Given the description of an element on the screen output the (x, y) to click on. 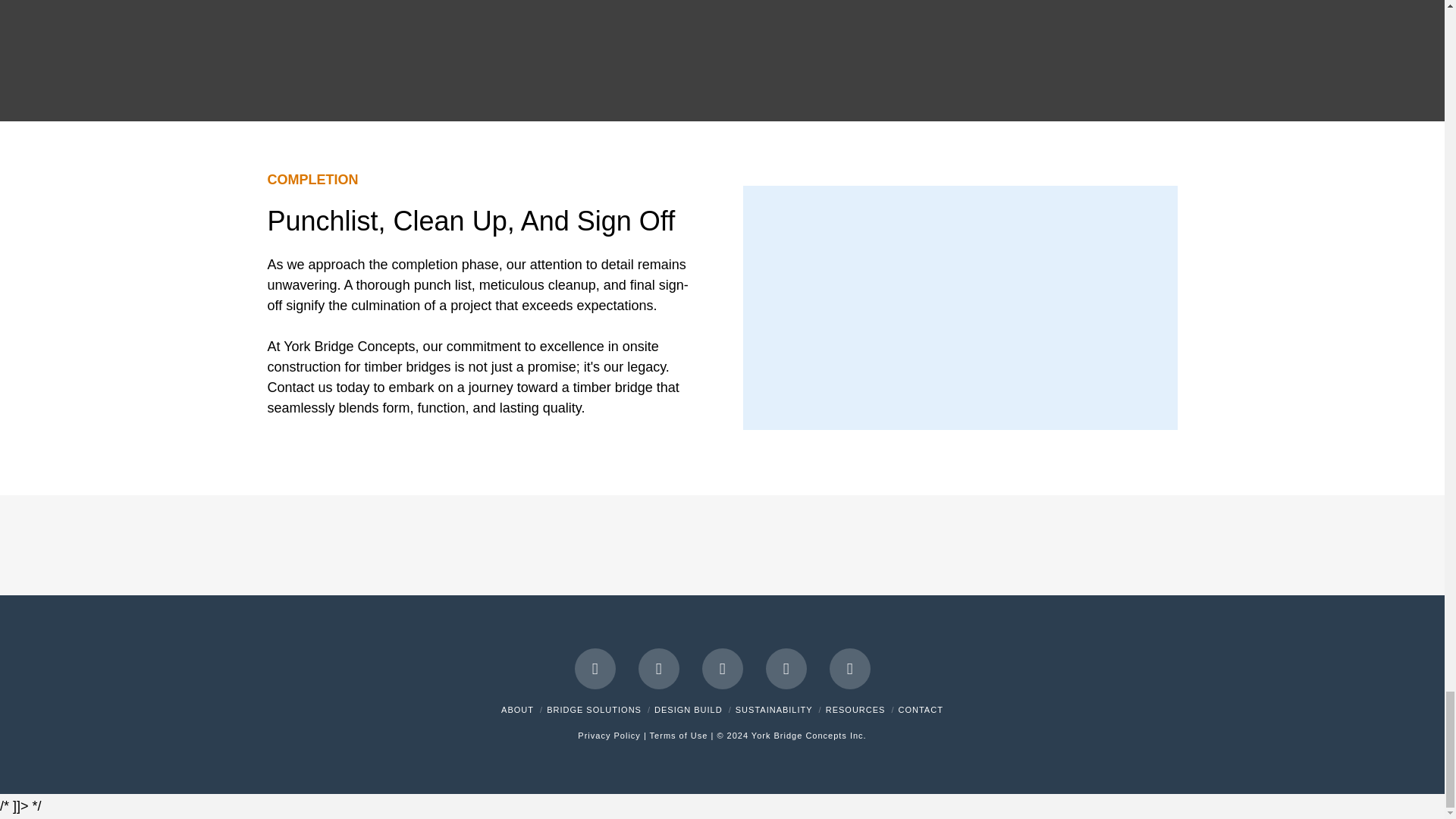
Instagram (849, 668)
YouTube (785, 668)
Facebook (595, 668)
LinkedIn (721, 668)
